Given the description of an element on the screen output the (x, y) to click on. 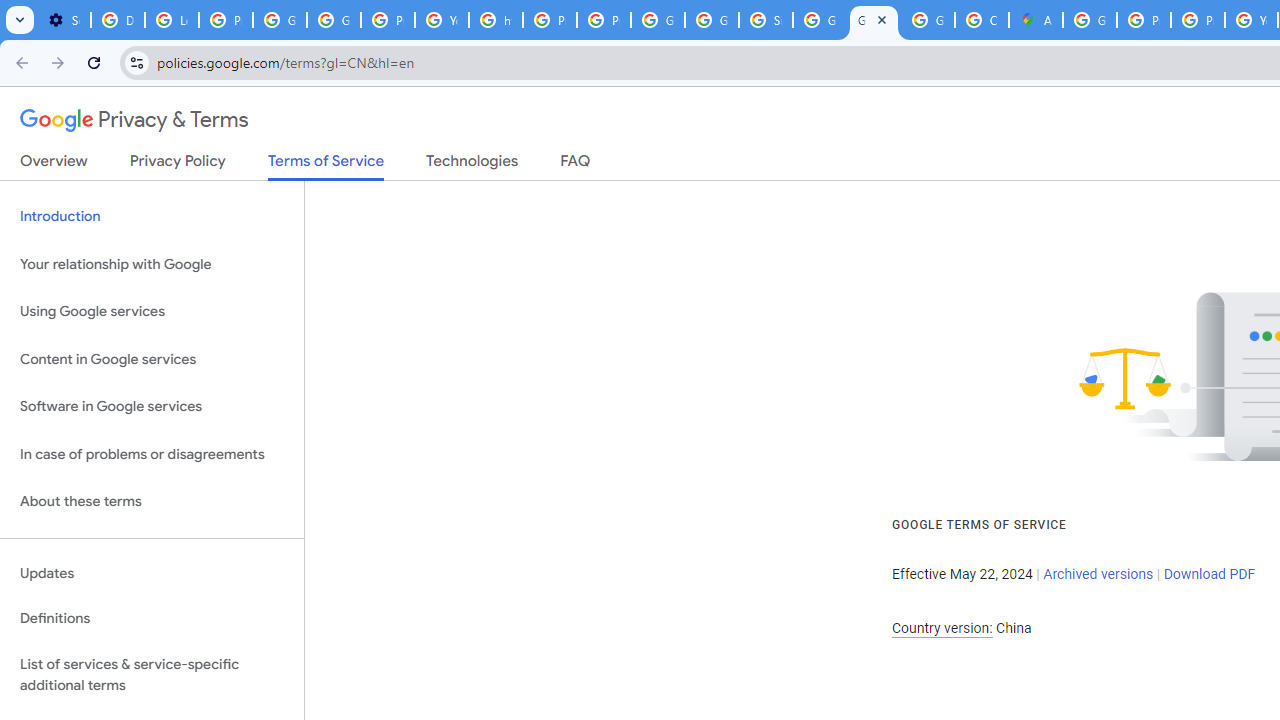
Privacy Help Center - Policies Help (1144, 20)
Country version: (942, 628)
YouTube (441, 20)
Delete photos & videos - Computer - Google Photos Help (117, 20)
Privacy Help Center - Policies Help (550, 20)
